Given the description of an element on the screen output the (x, y) to click on. 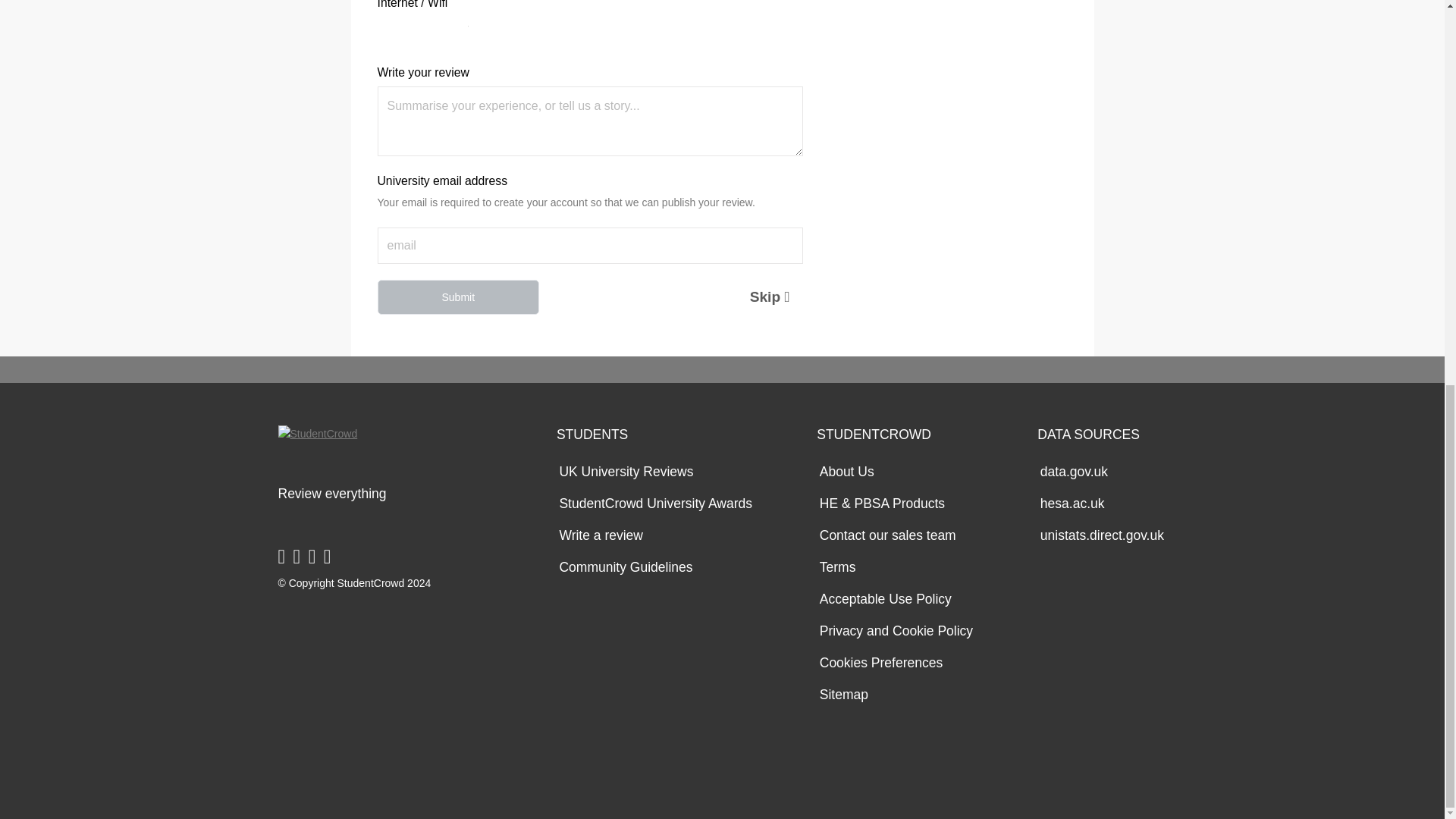
Value must be university email. (590, 245)
Submit (458, 297)
Skip (744, 297)
